Given the description of an element on the screen output the (x, y) to click on. 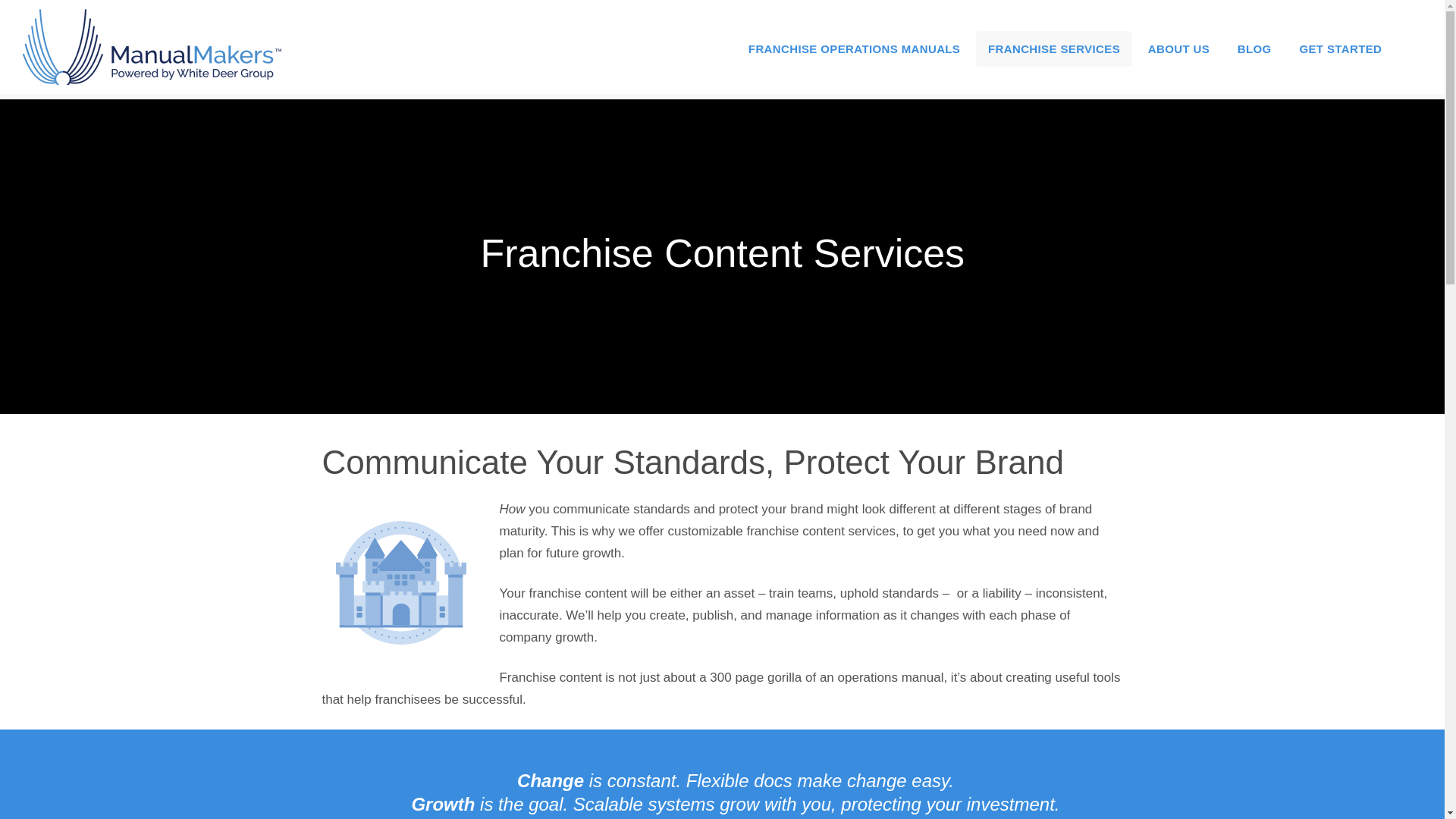
GET STARTED (1340, 48)
ABOUT US (1178, 48)
SEARCH (1409, 40)
FRANCHISE OPERATIONS MANUALS (854, 48)
Manual Makers (163, 47)
BLOG (1254, 48)
FRANCHISE SERVICES (1053, 48)
